Given the description of an element on the screen output the (x, y) to click on. 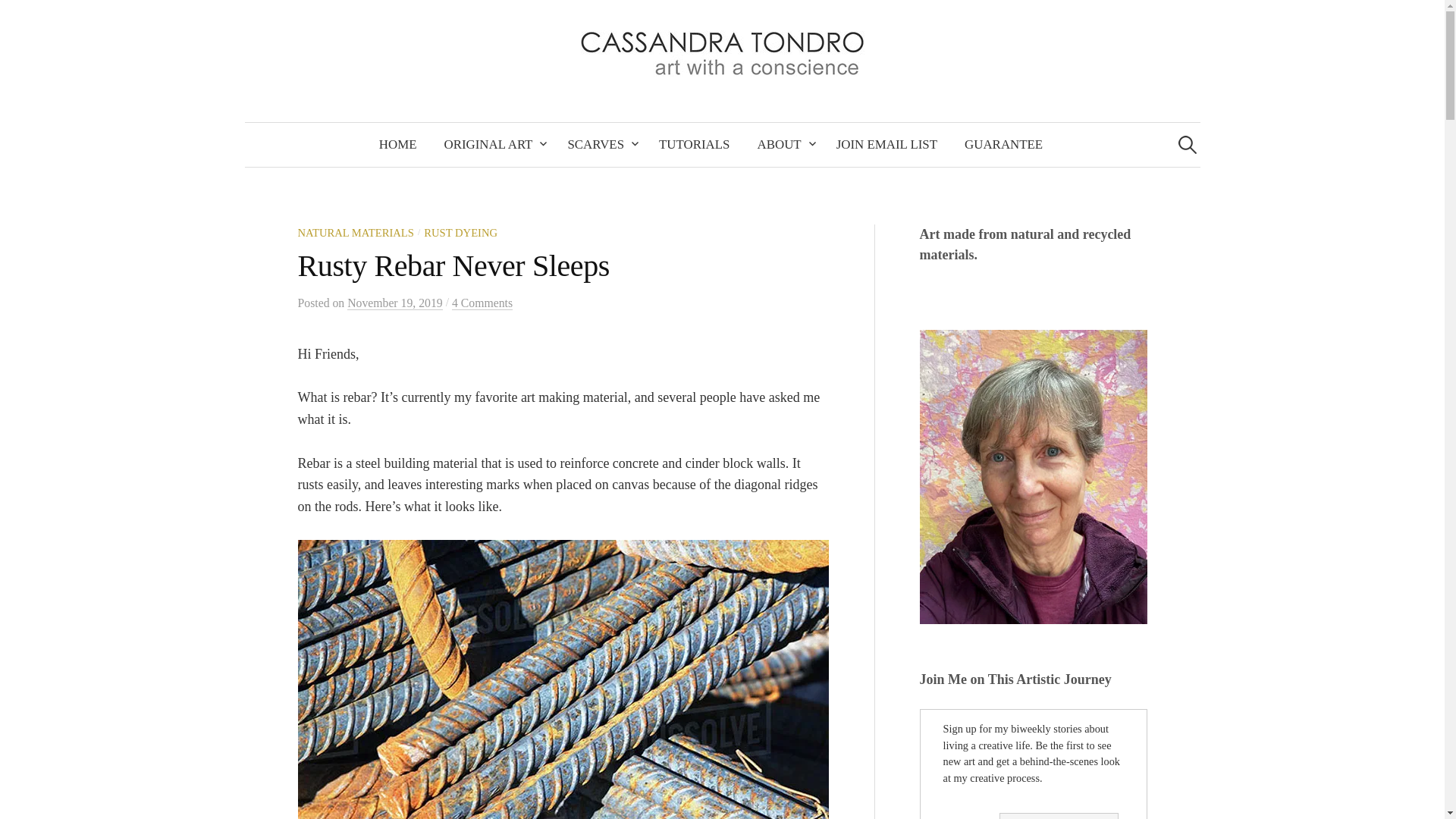
RUST DYEING (460, 232)
HOME (397, 144)
November 19, 2019 (394, 303)
NATURAL MATERIALS (355, 232)
ABOUT (783, 144)
Search (18, 18)
TUTORIALS (693, 144)
4 Comments (481, 303)
GUARANTEE (1003, 144)
JOIN EMAIL LIST (886, 144)
SCARVES (599, 144)
ORIGINAL ART (491, 144)
